Given the description of an element on the screen output the (x, y) to click on. 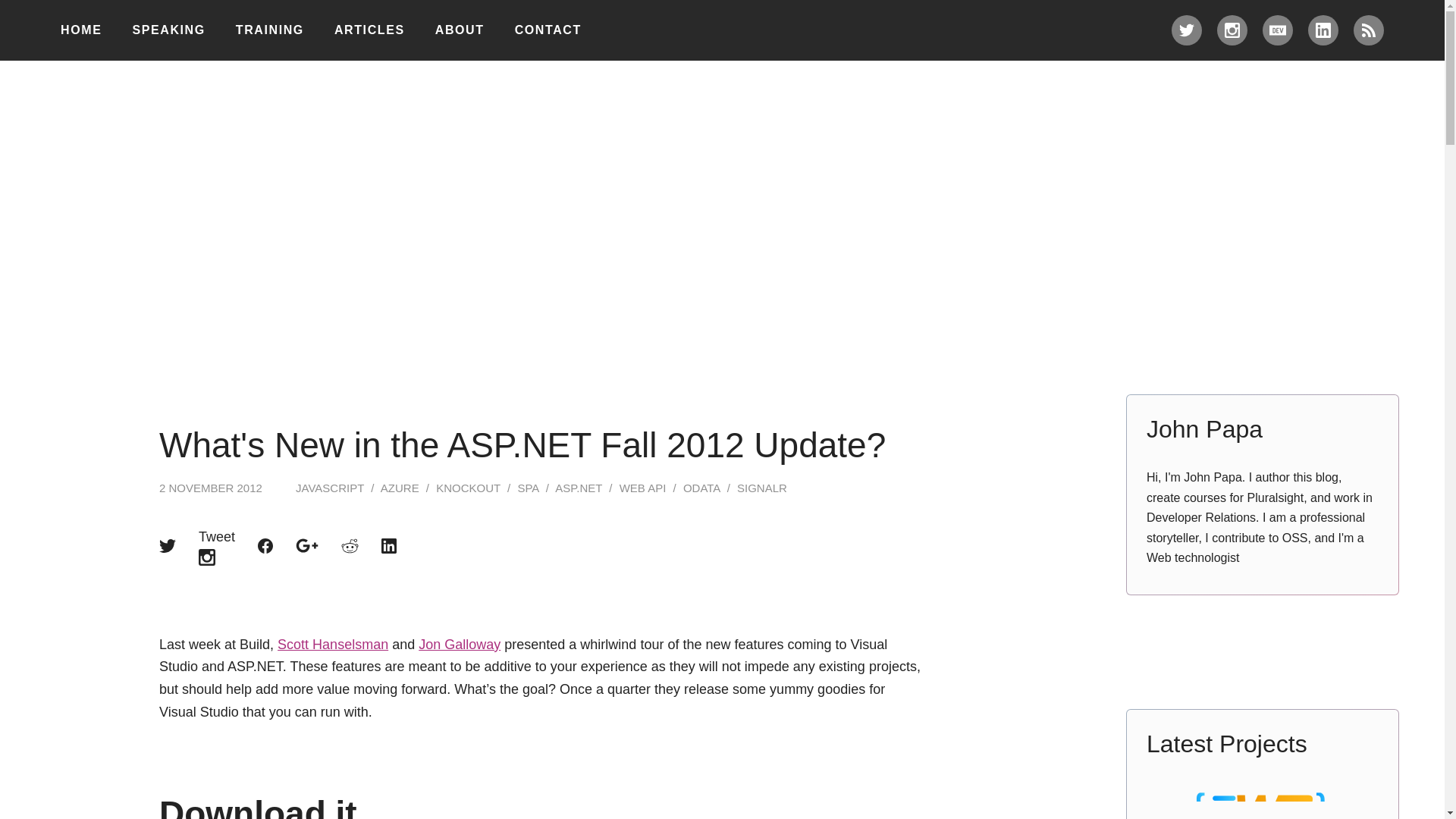
ARTICLES (369, 29)
JAVASCRIPT (329, 487)
LINKEDIN (1322, 30)
ABOUT (459, 29)
SIGNALR (761, 487)
TWITTER (1187, 30)
Jon Galloway (459, 644)
Share on Twitter (167, 545)
Share on LinkedIn (388, 545)
AZURE (399, 487)
ODATA (701, 487)
TRAINING (269, 29)
SPEAKING (168, 29)
CONTACT (547, 29)
KNOCKOUT (467, 487)
